Given the description of an element on the screen output the (x, y) to click on. 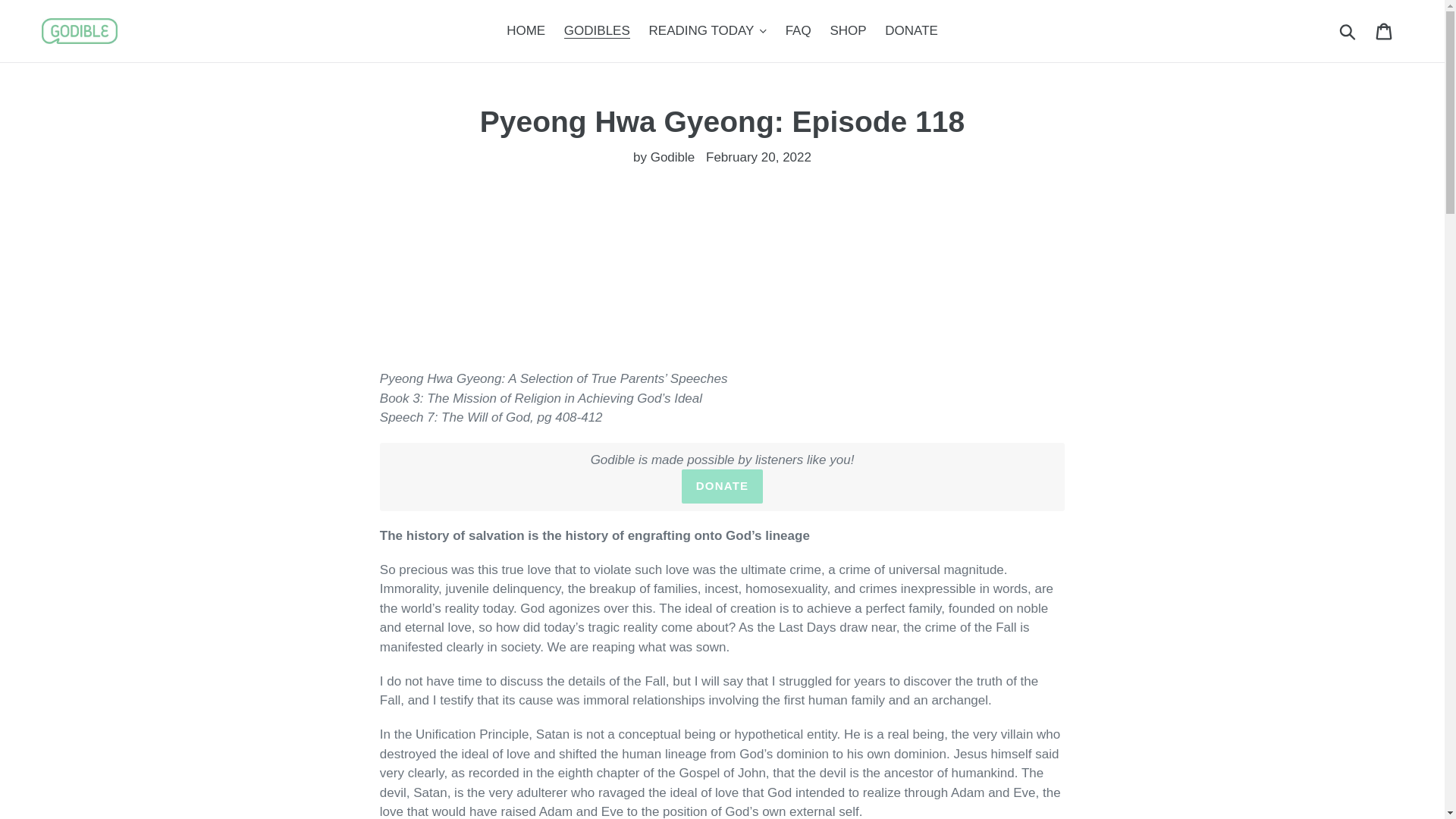
FAQ (797, 30)
Submit (1348, 30)
DONATE (721, 486)
DONATE (910, 30)
GODIBLES (596, 30)
Cart (1385, 30)
HOME (526, 30)
SHOP (847, 30)
